Given the description of an element on the screen output the (x, y) to click on. 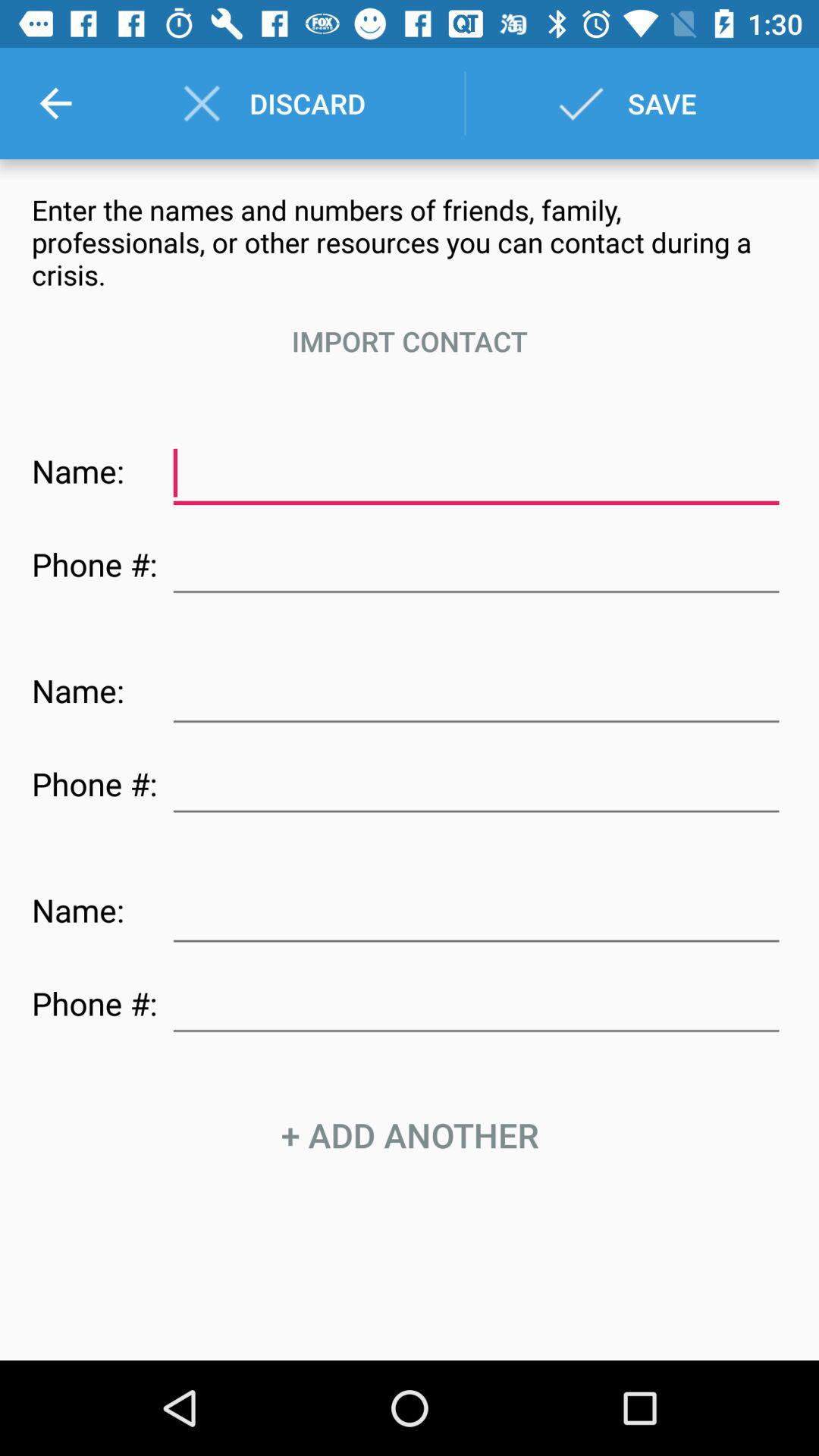
choose the app above the enter the names item (55, 103)
